Given the description of an element on the screen output the (x, y) to click on. 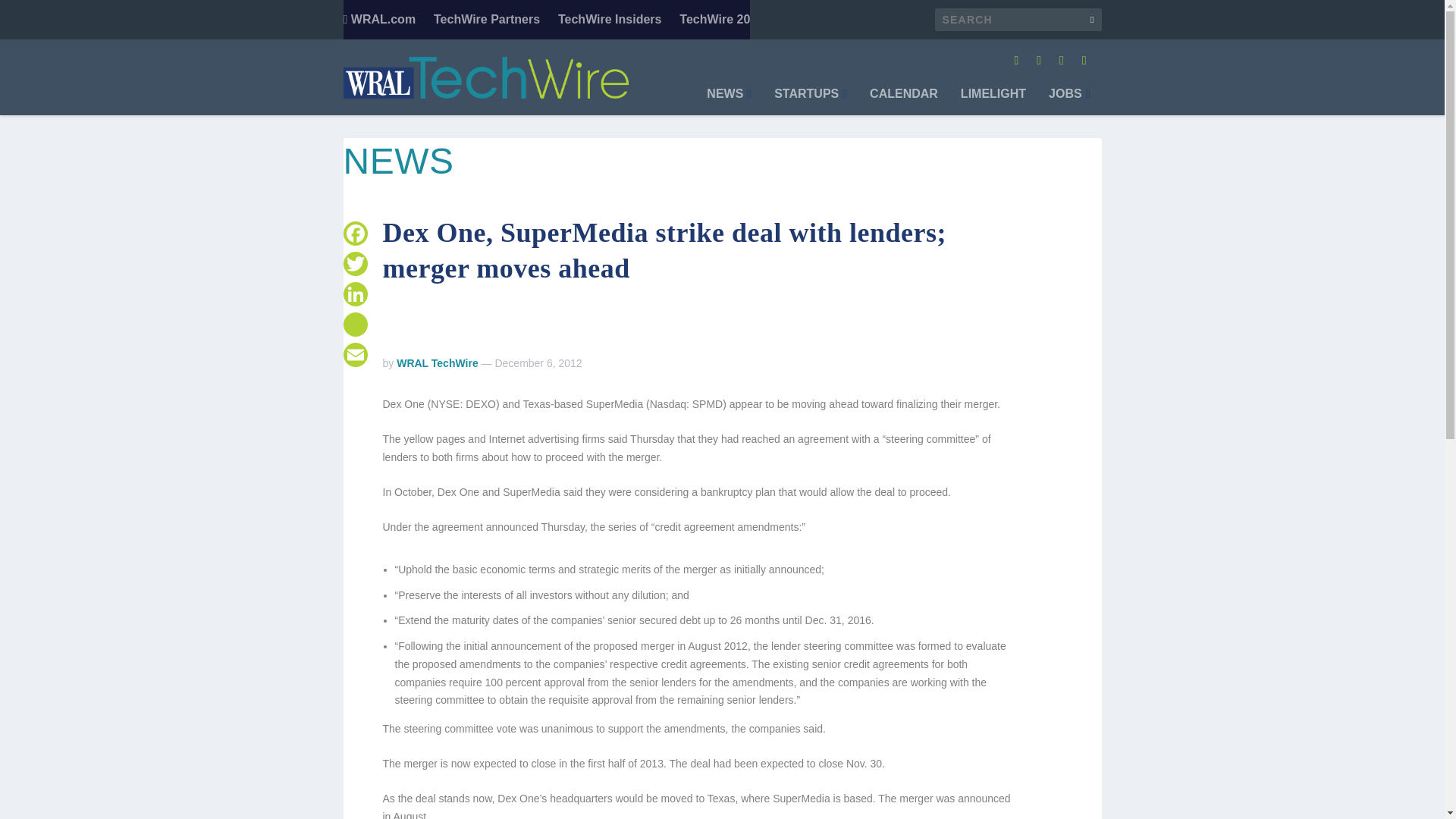
WRAL.com (378, 19)
JOBS (1068, 101)
Reddit (354, 324)
NEWS (728, 101)
TechWire 20 (714, 19)
Email (354, 354)
Twitter (354, 263)
Facebook (354, 233)
LIMELIGHT (993, 101)
STARTUPS (810, 101)
